Given the description of an element on the screen output the (x, y) to click on. 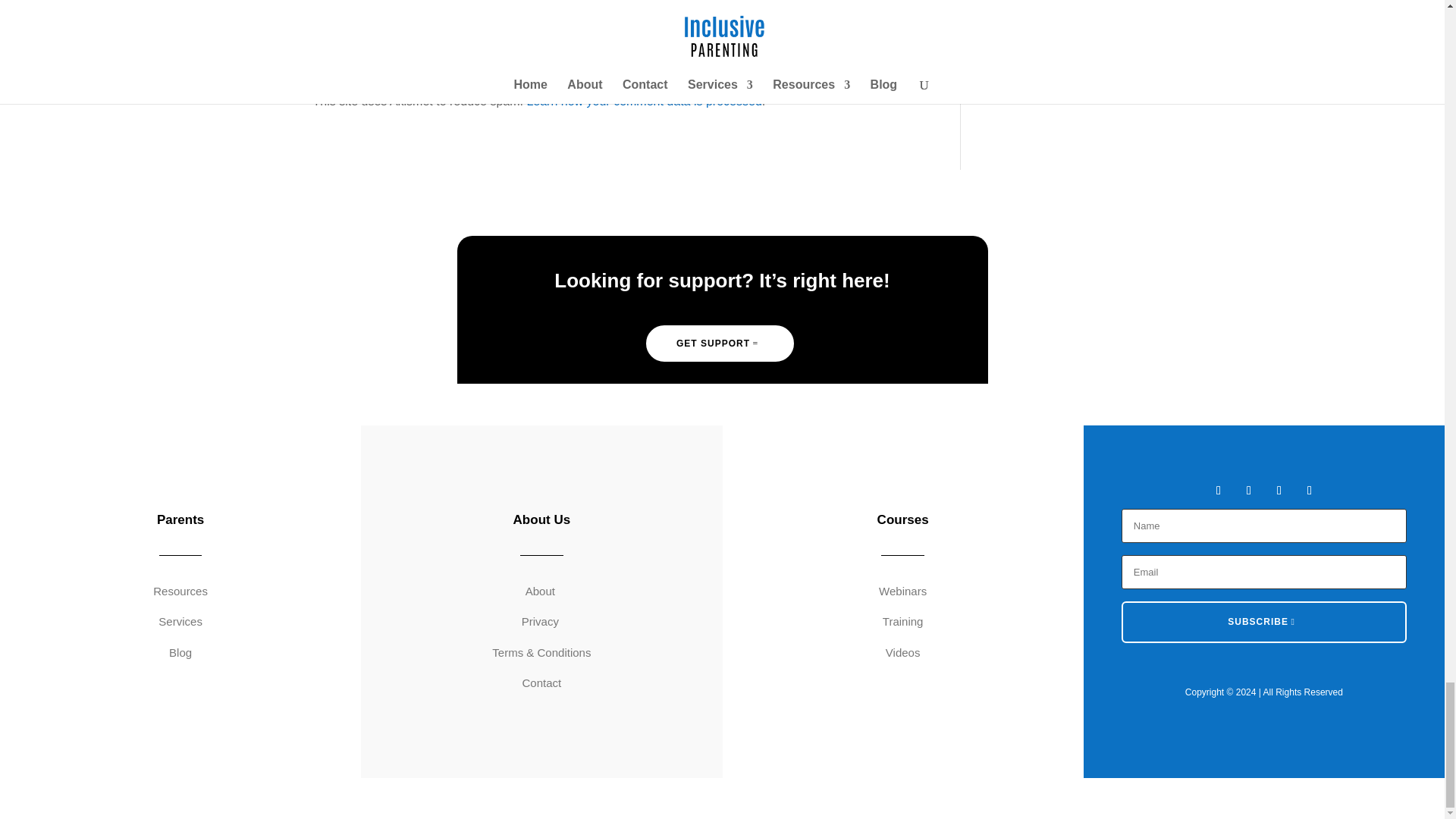
Follow on Facebook (1218, 490)
Follow on Twitter (1248, 490)
Follow on Pinterest (1309, 490)
Submit Comment (840, 21)
Follow on Instagram (1278, 490)
